Given the description of an element on the screen output the (x, y) to click on. 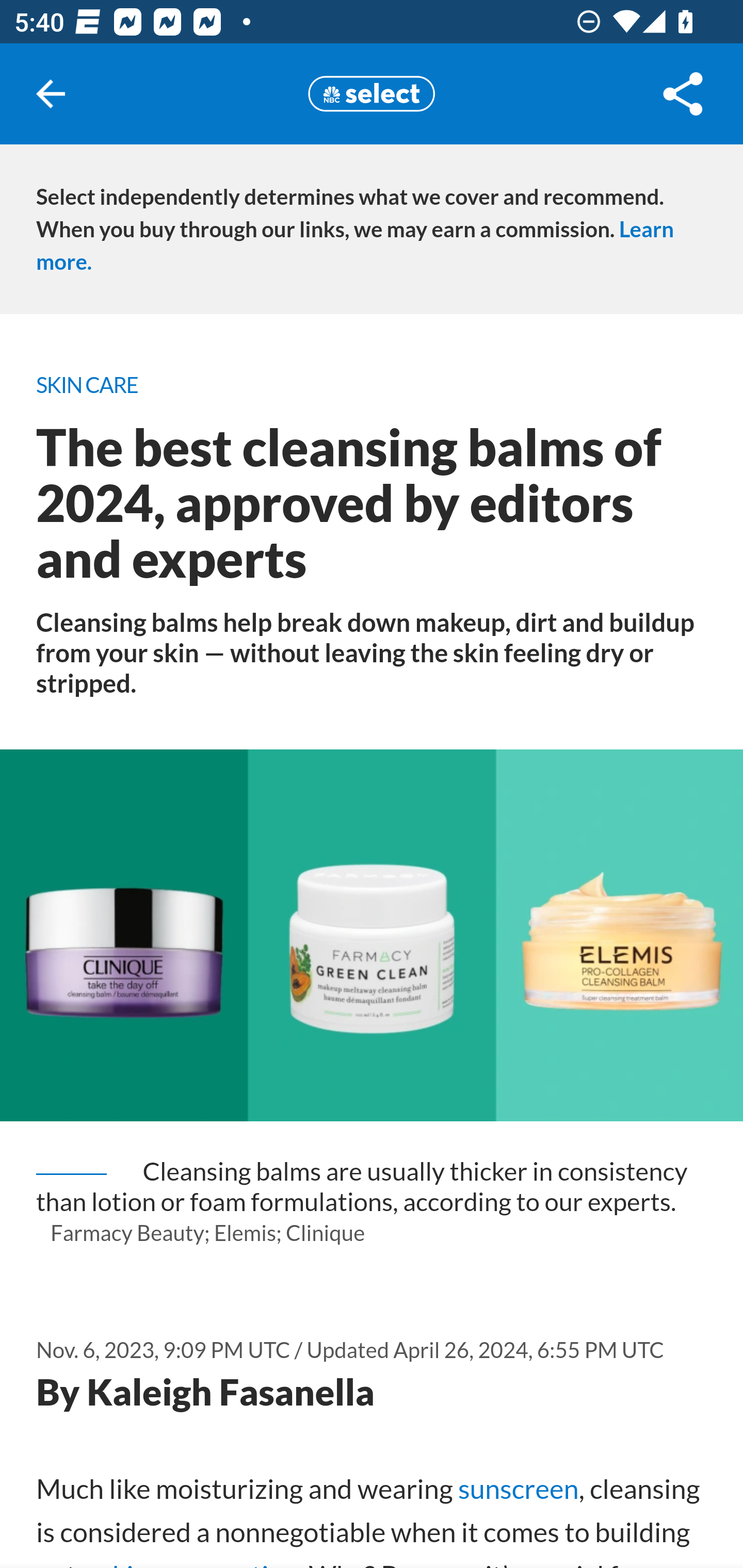
Navigate up (50, 93)
Share Article, button (683, 94)
Header, Select (371, 93)
